Given the description of an element on the screen output the (x, y) to click on. 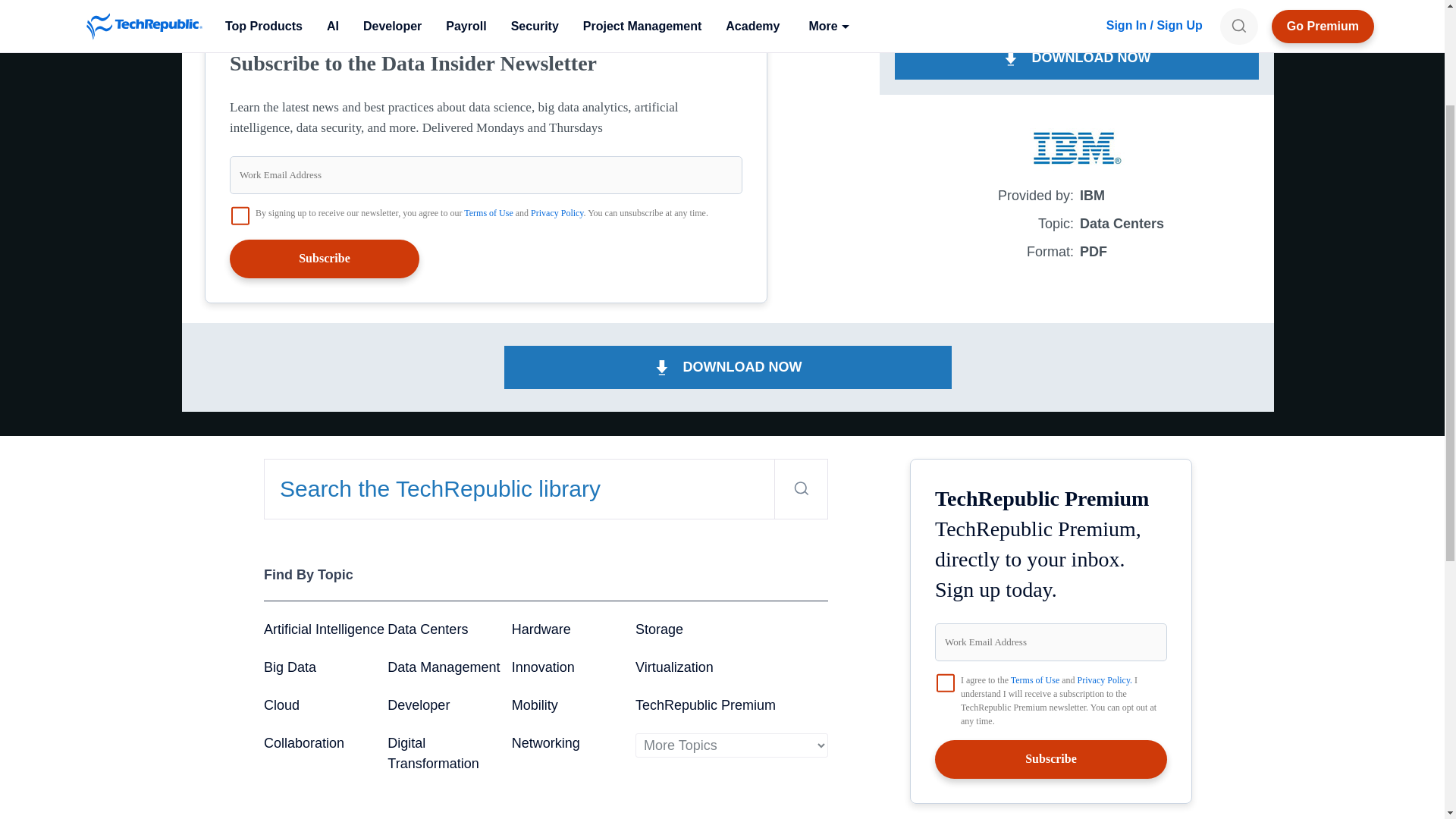
Subscribe (324, 258)
DOWNLOAD NOW (727, 367)
DOWNLOAD NOW (1077, 57)
Artificial Intelligence (323, 629)
Terms of Use (488, 213)
on (239, 216)
on (945, 683)
Privacy Policy (557, 213)
